Given the description of an element on the screen output the (x, y) to click on. 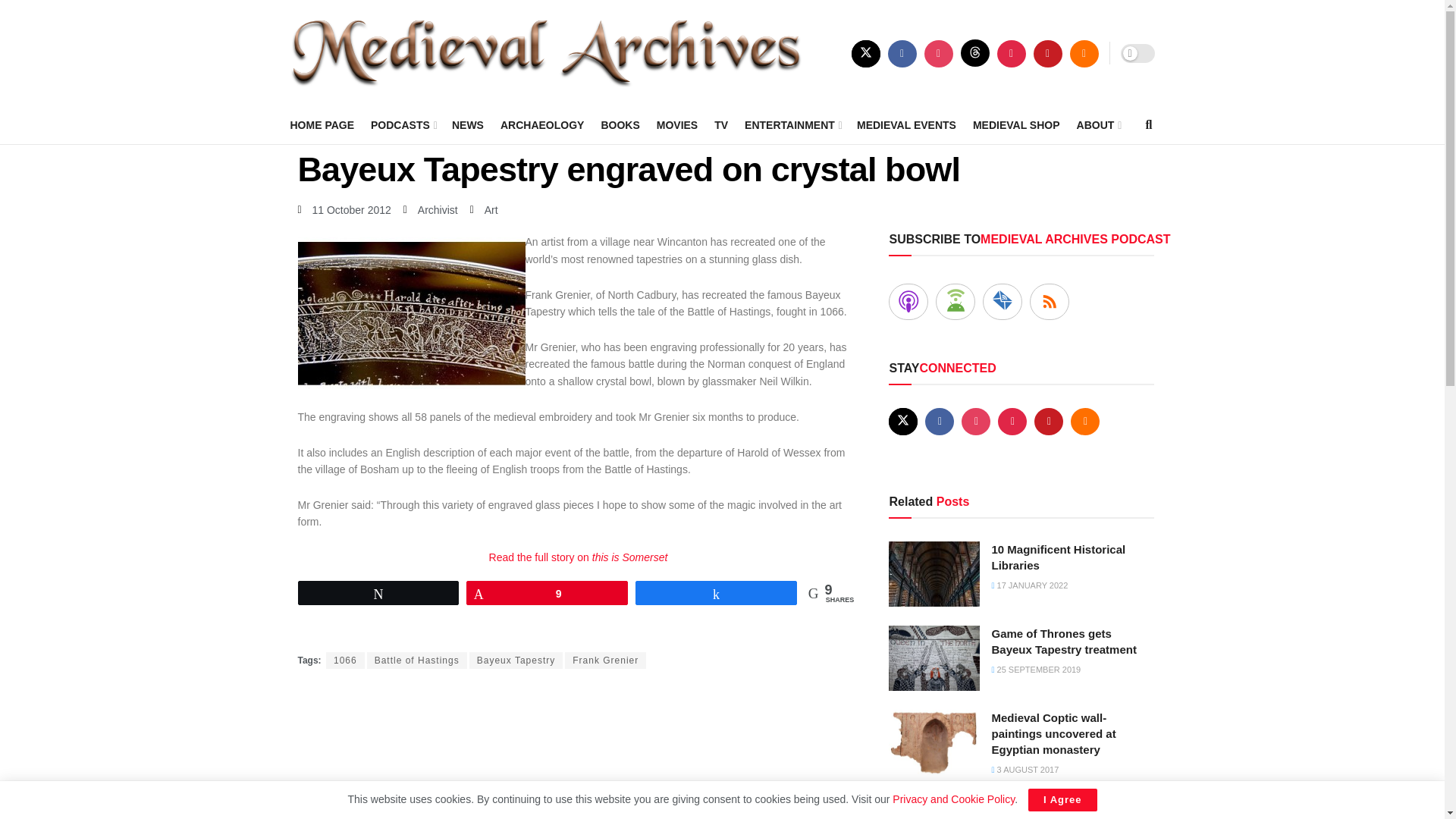
BOOKS (619, 124)
Subscribe by Email (1002, 301)
ARCHAEOLOGY (541, 124)
MEDIEVAL EVENTS (906, 124)
HOME PAGE (321, 124)
Bayeux Tapestry crystal bowl (410, 313)
MEDIEVAL SHOP (1015, 124)
Subscribe on Android (955, 301)
ENTERTAINMENT (792, 124)
MOVIES (676, 124)
Subscribe via RSS (1048, 301)
PODCASTS (403, 124)
NEWS (467, 124)
Subscribe on Apple Podcasts (908, 301)
ABOUT (1098, 124)
